Given the description of an element on the screen output the (x, y) to click on. 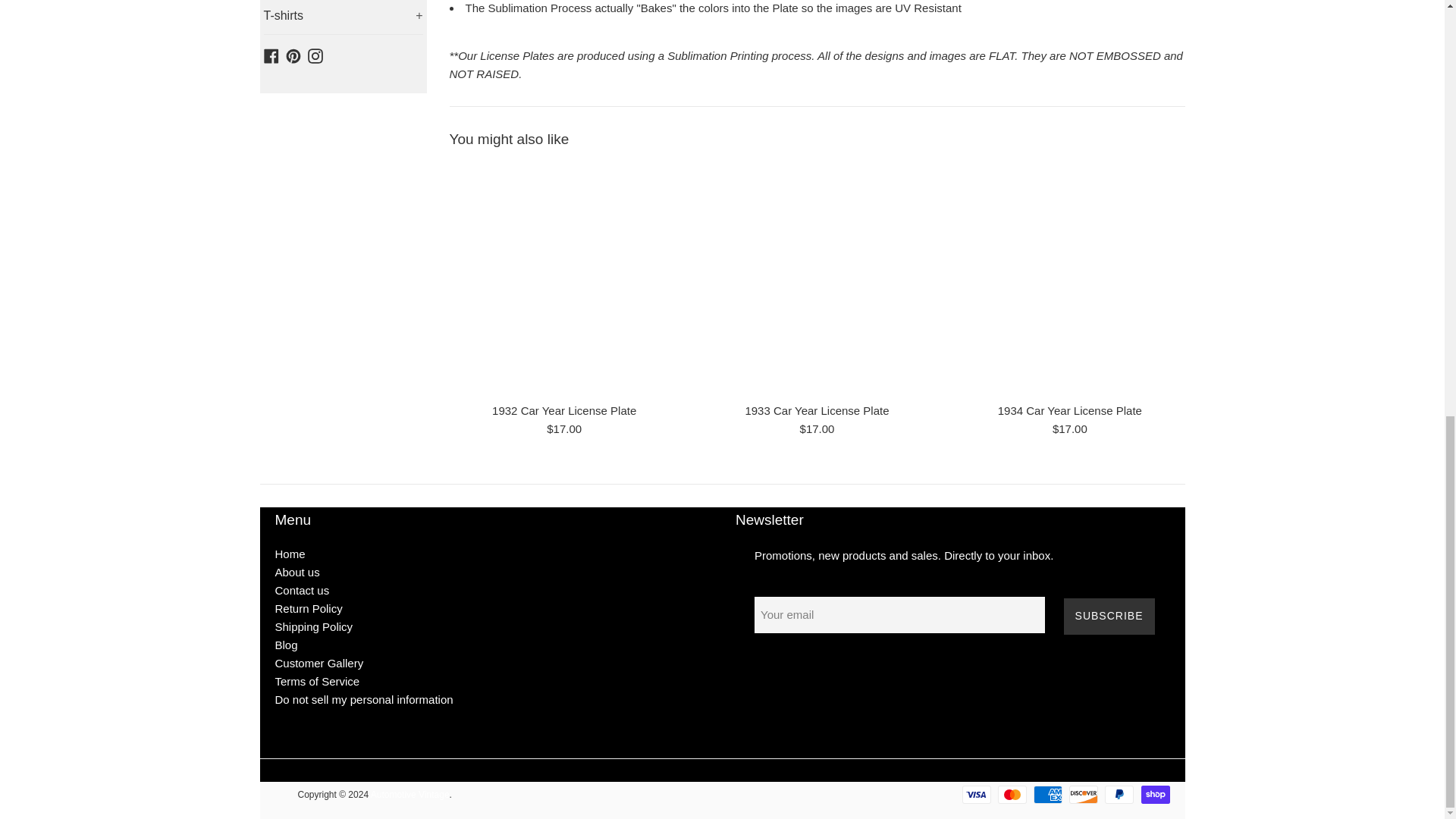
1932 Car Year License Plate (563, 278)
Automotive Vintage on Pinterest (293, 54)
PayPal (1119, 794)
1933 Car Year License Plate (816, 278)
Mastercard (1011, 794)
Discover (1082, 794)
Automotive Vintage on Facebook (271, 54)
Shop Pay (1154, 794)
Automotive Vintage on Instagram (315, 54)
American Express (1047, 794)
Visa (976, 794)
1934 Car Year License Plate (1070, 278)
